Given the description of an element on the screen output the (x, y) to click on. 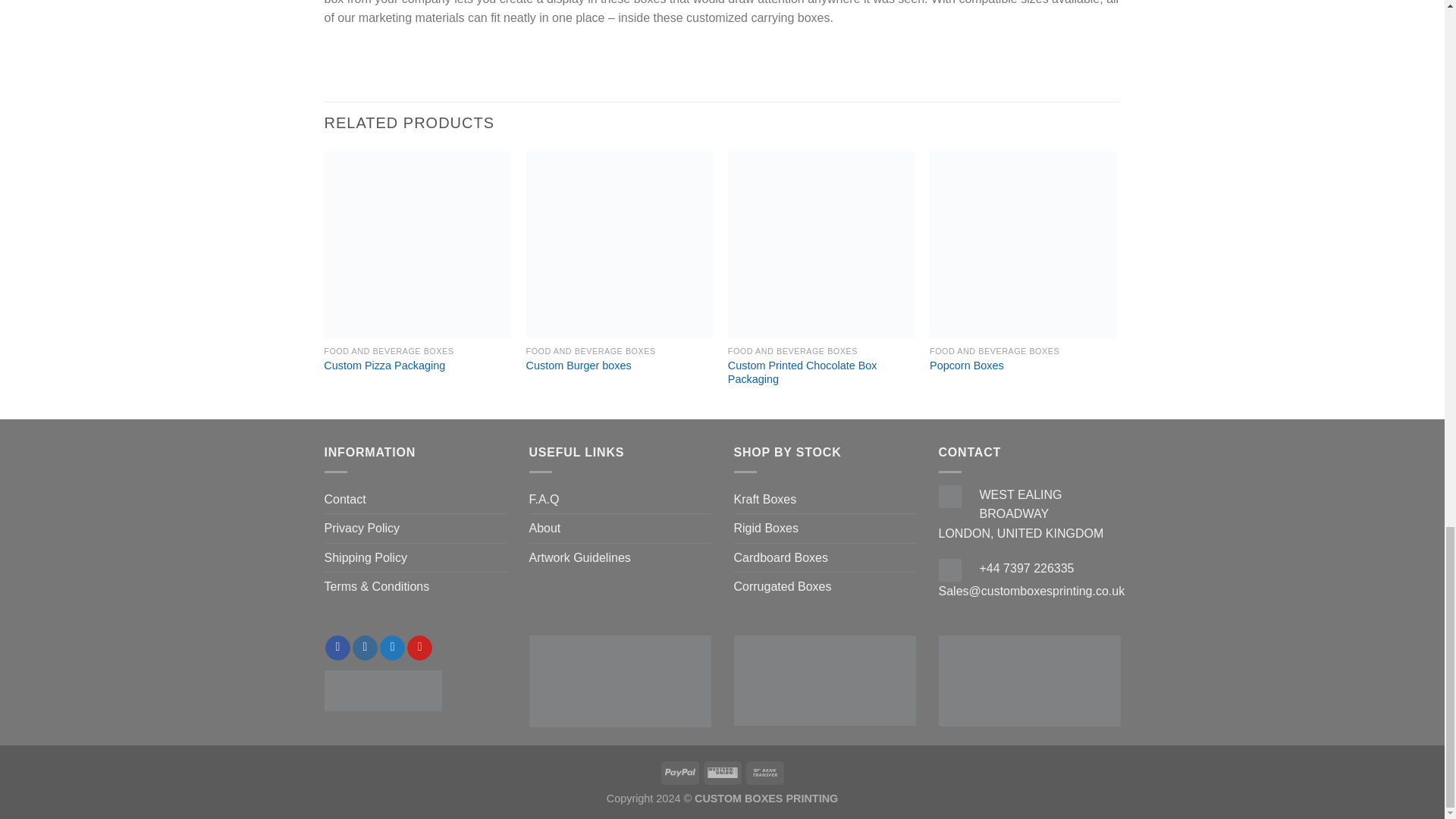
Follow on Facebook (337, 647)
Follow on Twitter (392, 647)
Follow on Instagram (364, 647)
Follow on Pinterest (419, 647)
